Given the description of an element on the screen output the (x, y) to click on. 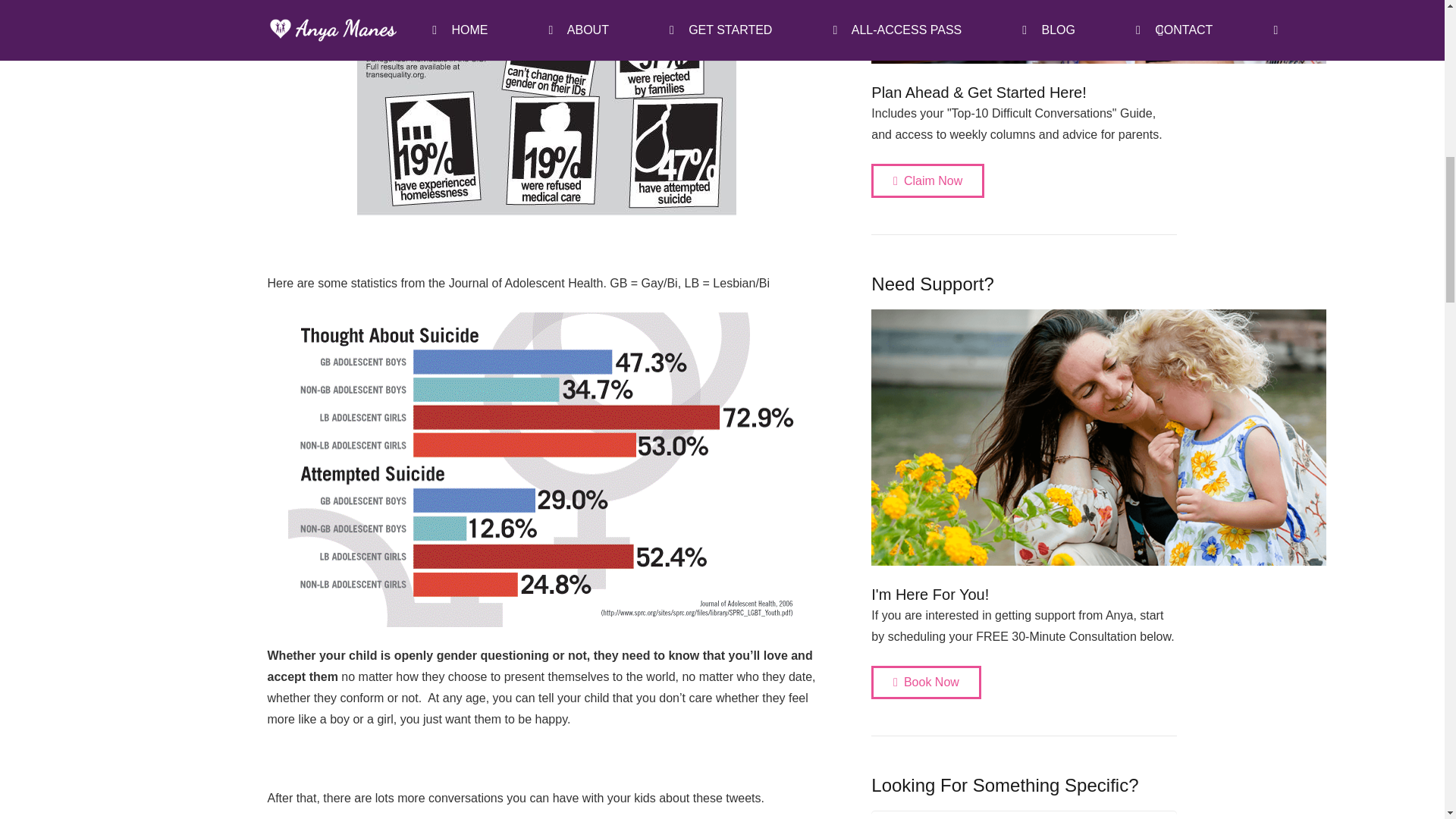
Back to top (1413, 30)
